Given the description of an element on the screen output the (x, y) to click on. 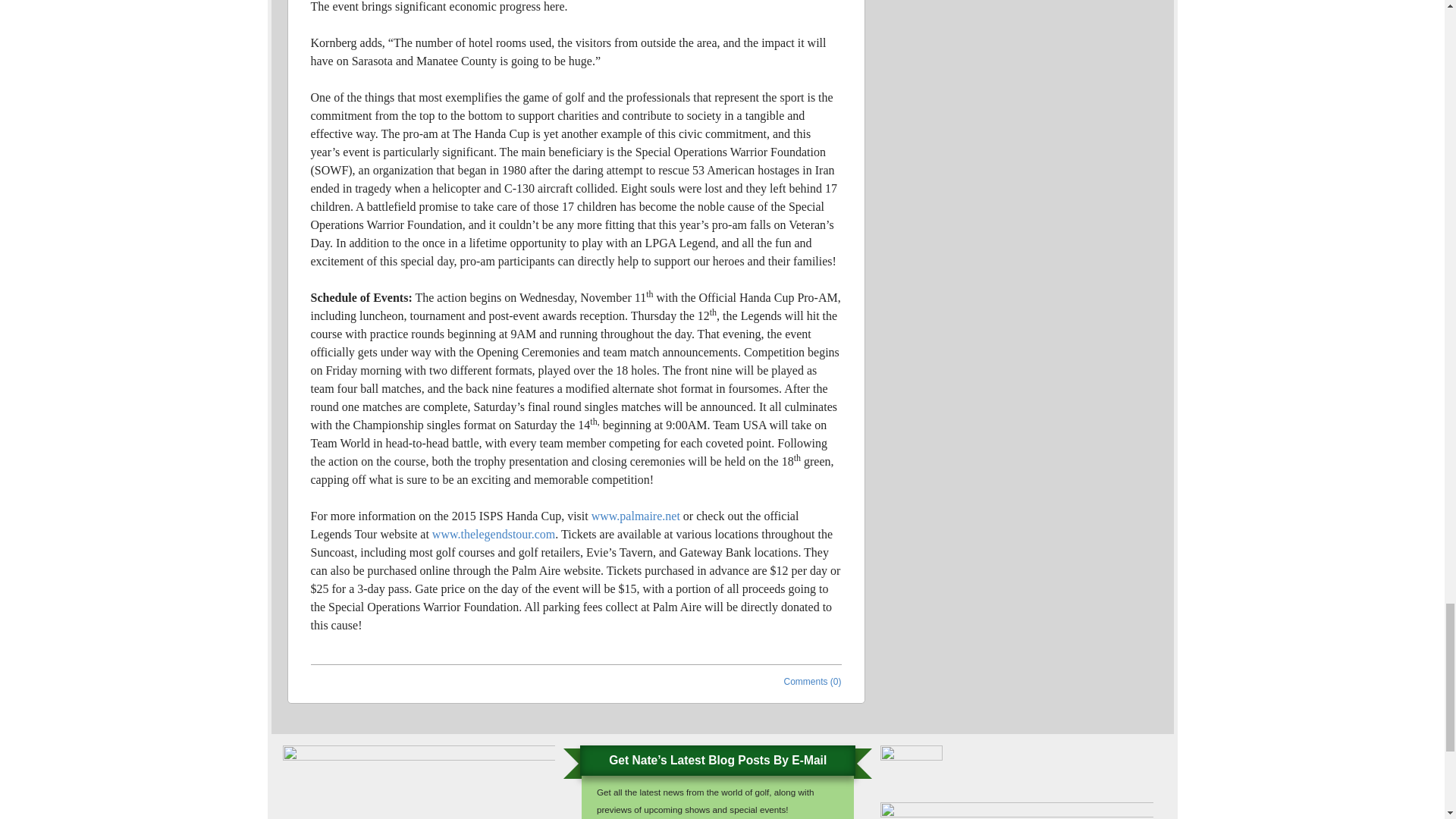
www.thelegendstour.com (493, 533)
www.palmaire.net (635, 515)
